Given the description of an element on the screen output the (x, y) to click on. 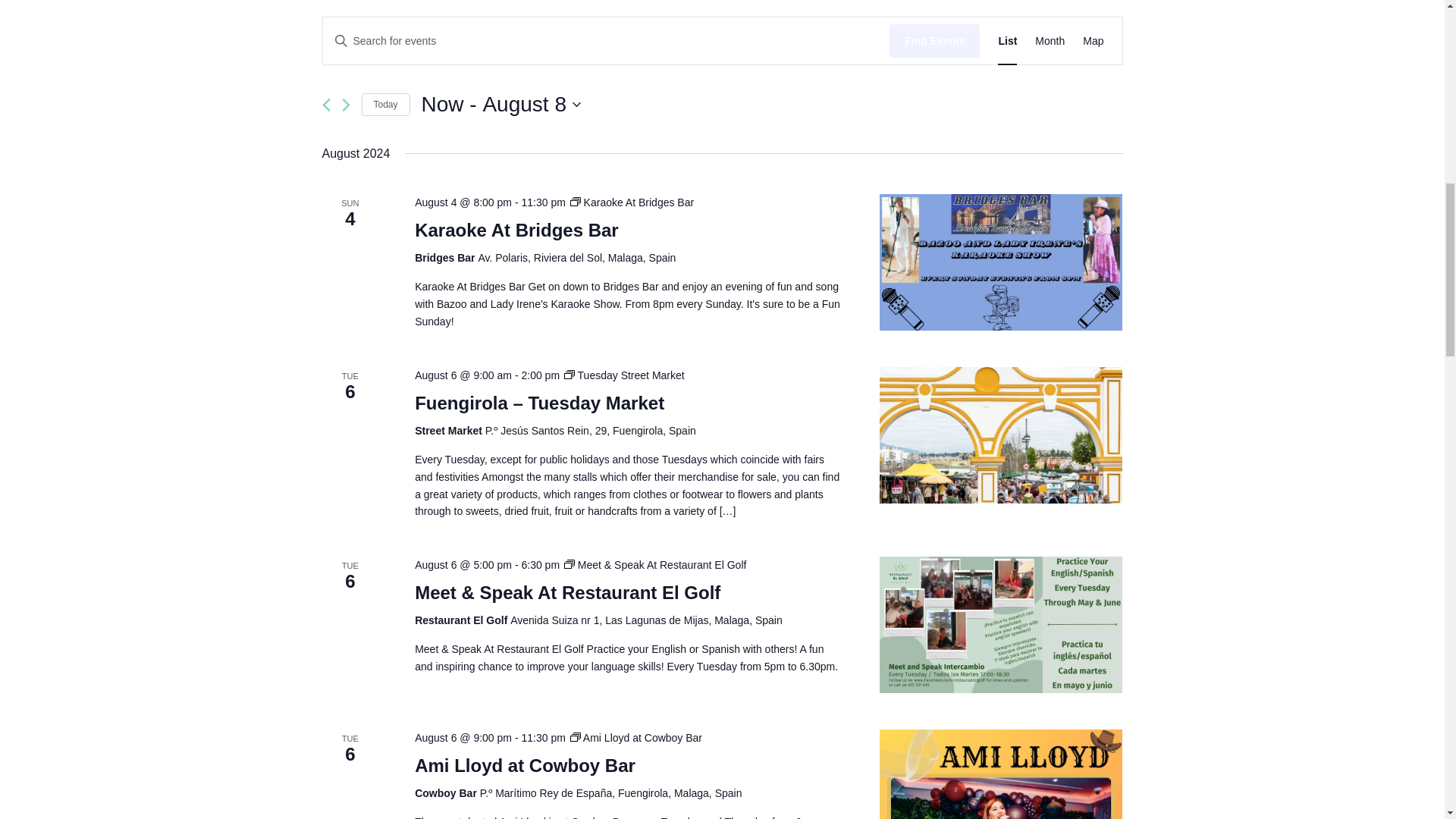
Karaoke At Bridges Bar (516, 230)
Event Series Karaoke At Bridges Bar (632, 202)
Find Events (934, 41)
Event Series Tuesday Street Market (624, 375)
Ami Lloyd at Cowboy Bar (524, 765)
Karaoke At Bridges Bar (516, 230)
Karaoke At Bridges Bar (1000, 262)
Next Events (501, 104)
Month (344, 104)
Click to select today's date (1049, 41)
Click to toggle datepicker (385, 105)
Today (501, 104)
Event Series (385, 105)
Event Series Ami Lloyd at Cowboy Bar (575, 737)
